Given the description of an element on the screen output the (x, y) to click on. 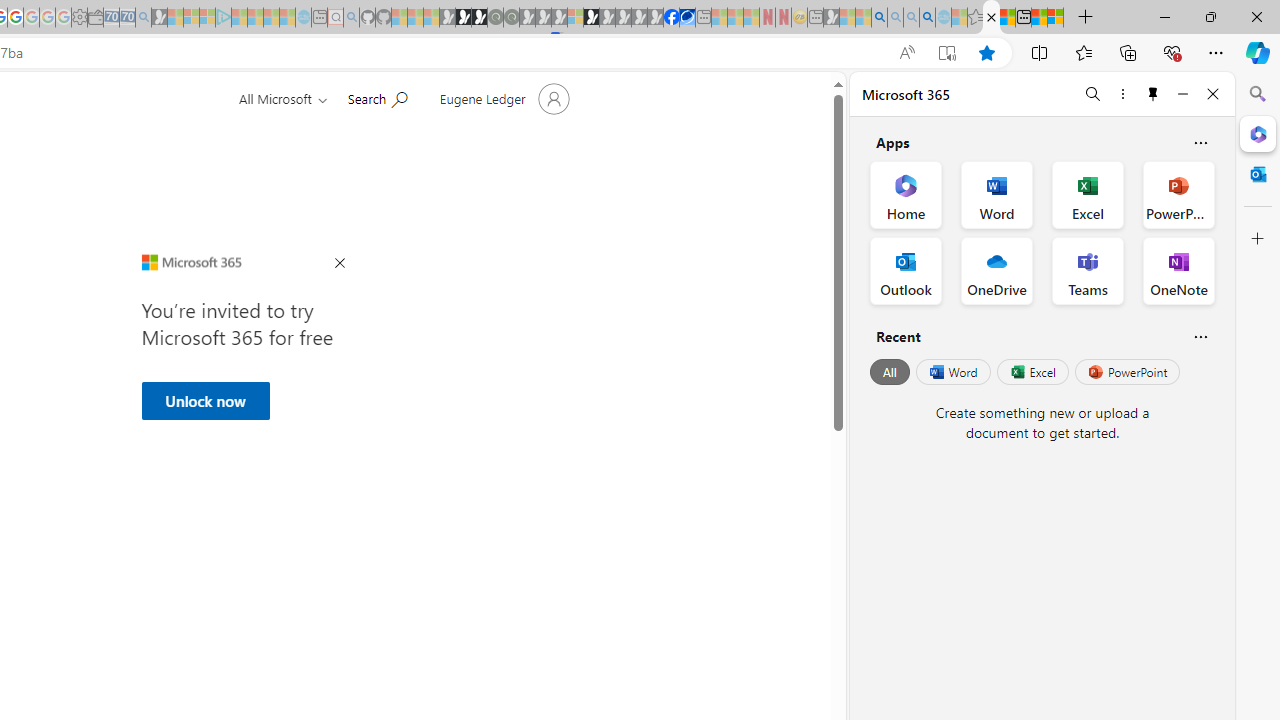
OneNote Office App (1178, 270)
Is this helpful? (1200, 336)
Close Ad (339, 264)
OneDrive Office App (996, 270)
